Given the description of an element on the screen output the (x, y) to click on. 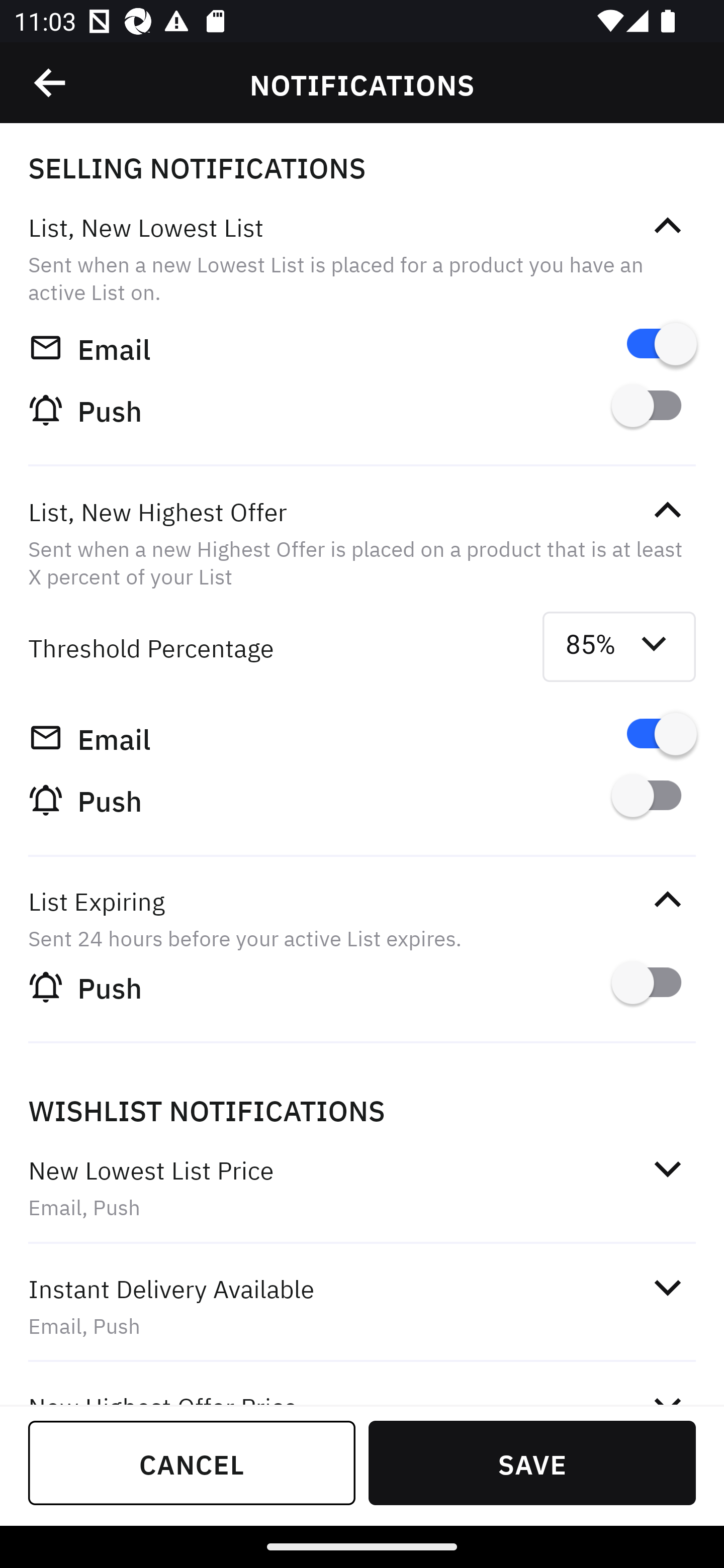
 (50, 83)
 (667, 226)
 (667, 510)
85%  (619, 646)
 (667, 899)
New Lowest List Price  Email, Push (361, 1188)
 (667, 1168)
Instant Delivery Available  Email, Push (361, 1306)
 (667, 1287)
CANCEL (191, 1462)
SAVE (531, 1462)
